Given the description of an element on the screen output the (x, y) to click on. 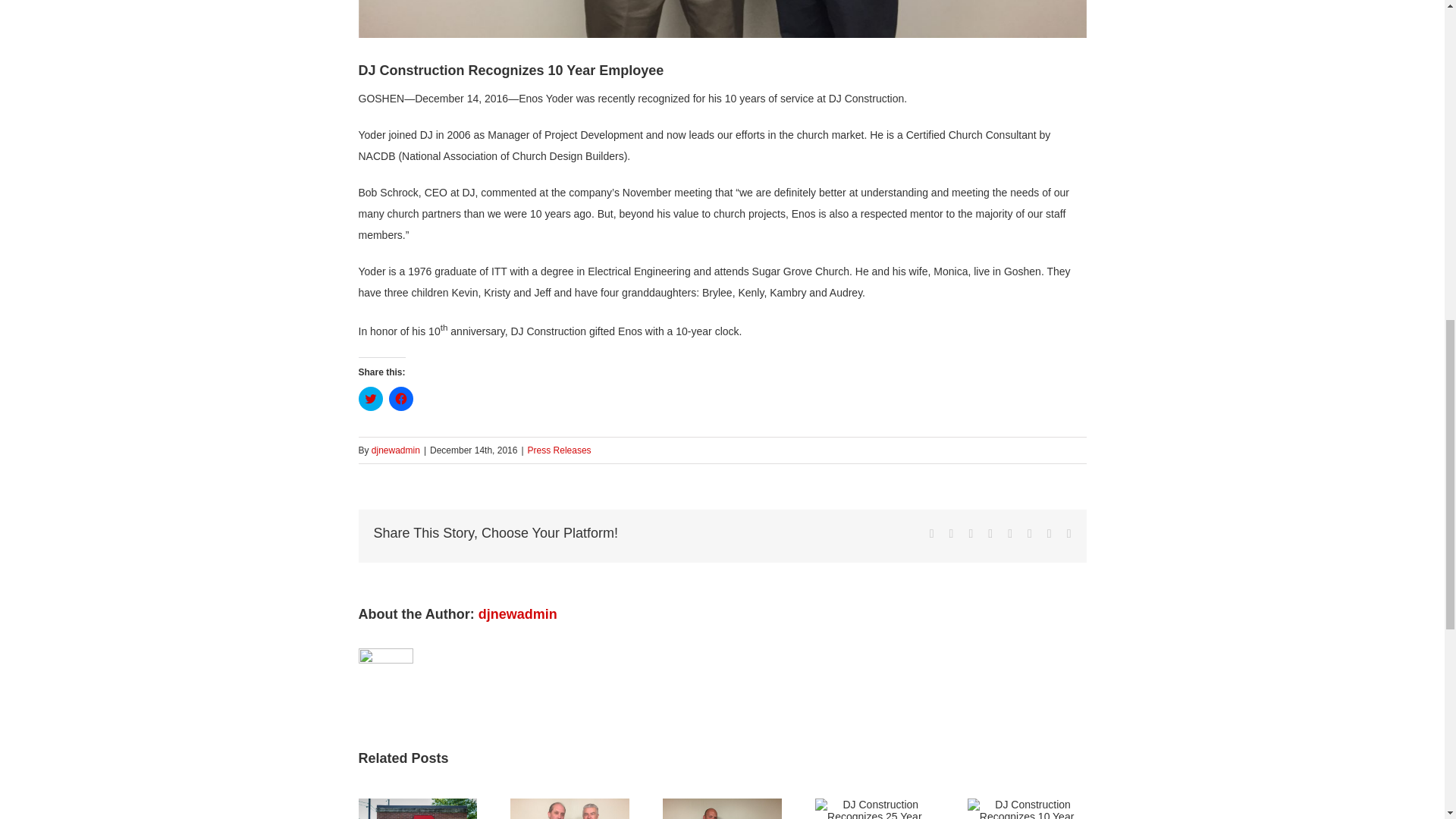
Click to share on Twitter (369, 398)
Click to share on Facebook (400, 398)
Posts by djnewadmin (395, 450)
